Given the description of an element on the screen output the (x, y) to click on. 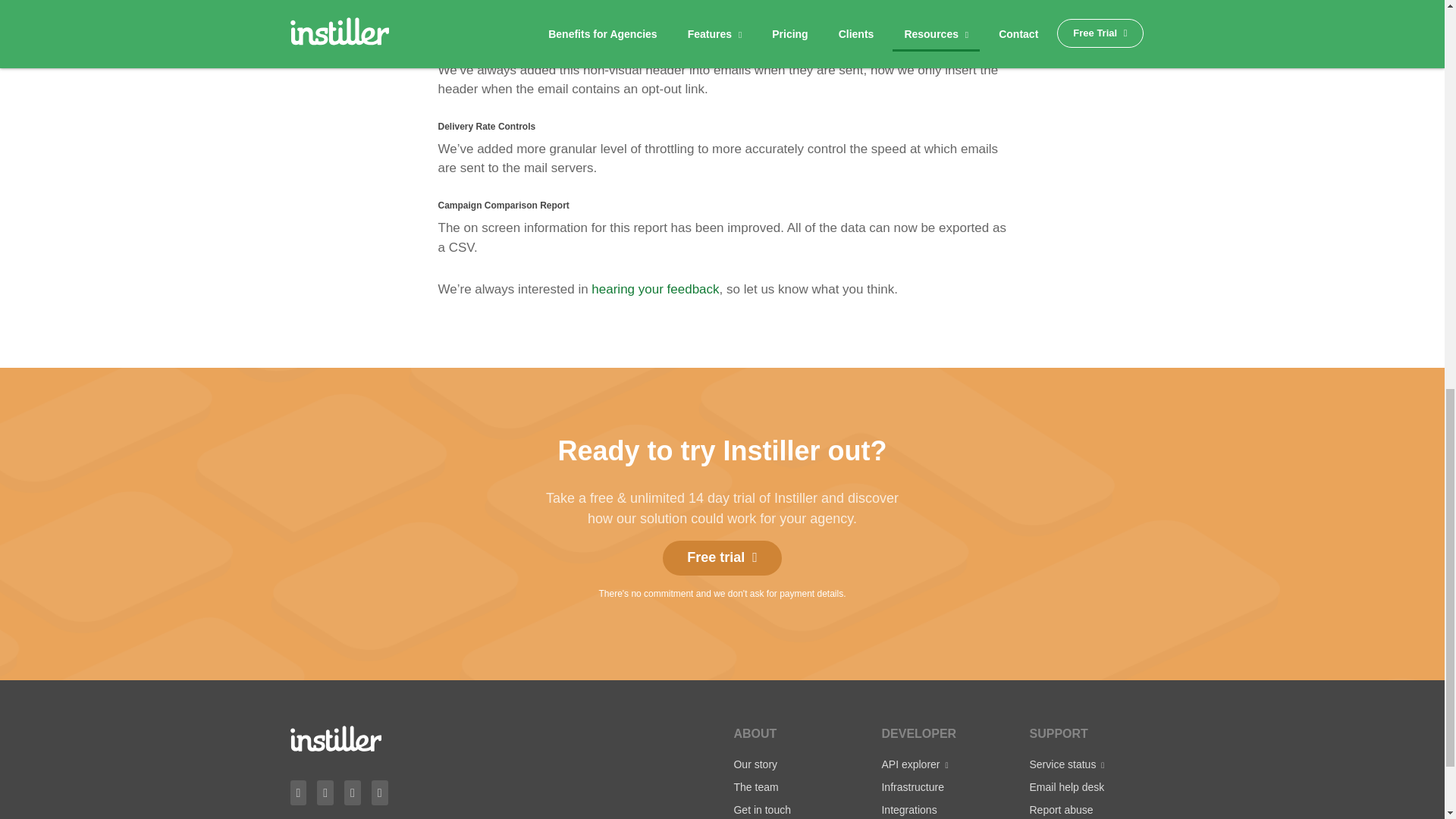
hearing your feedback (655, 288)
Free trial (721, 557)
